Given the description of an element on the screen output the (x, y) to click on. 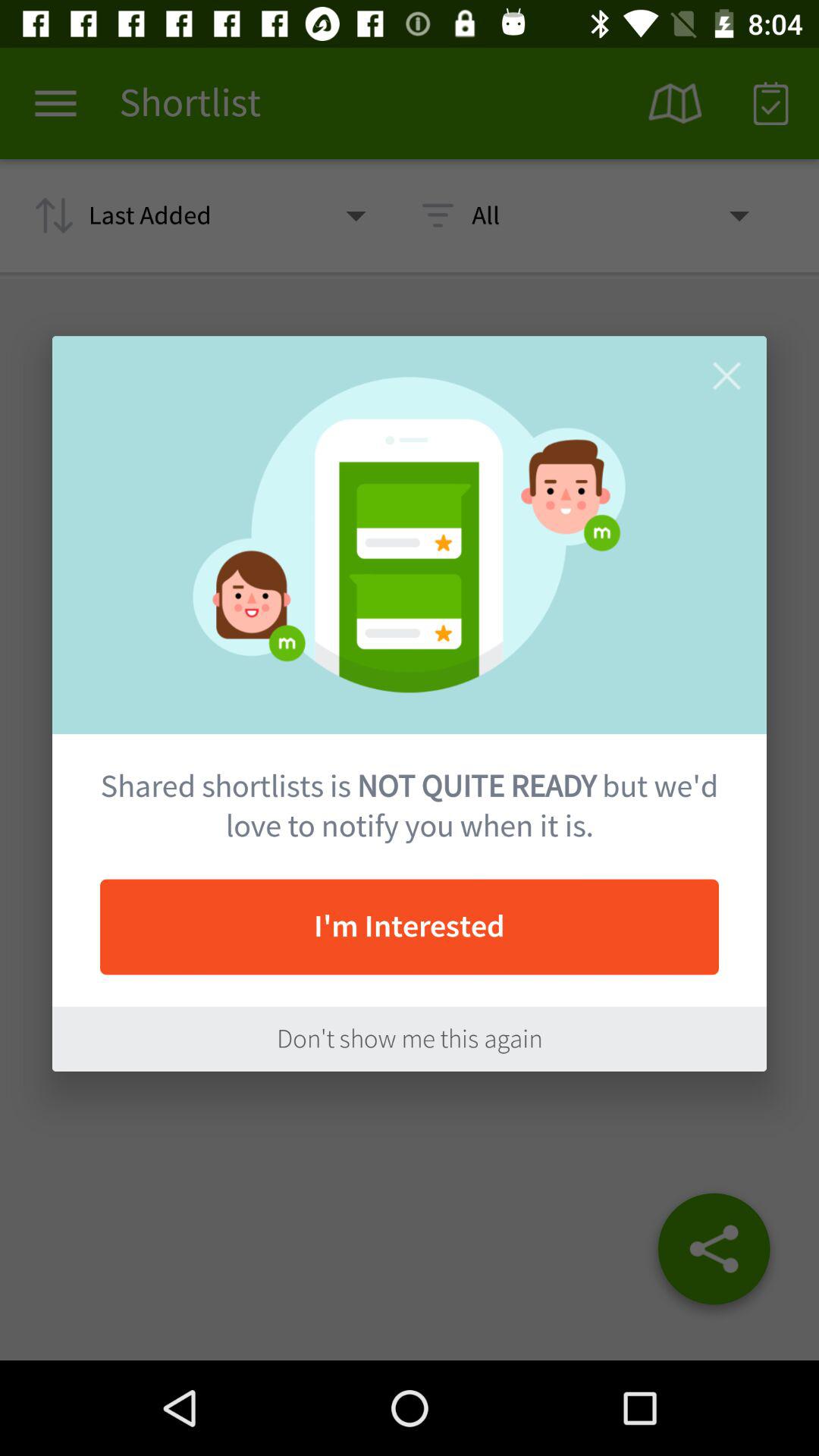
choose the item below the shared shortlists is item (409, 926)
